Given the description of an element on the screen output the (x, y) to click on. 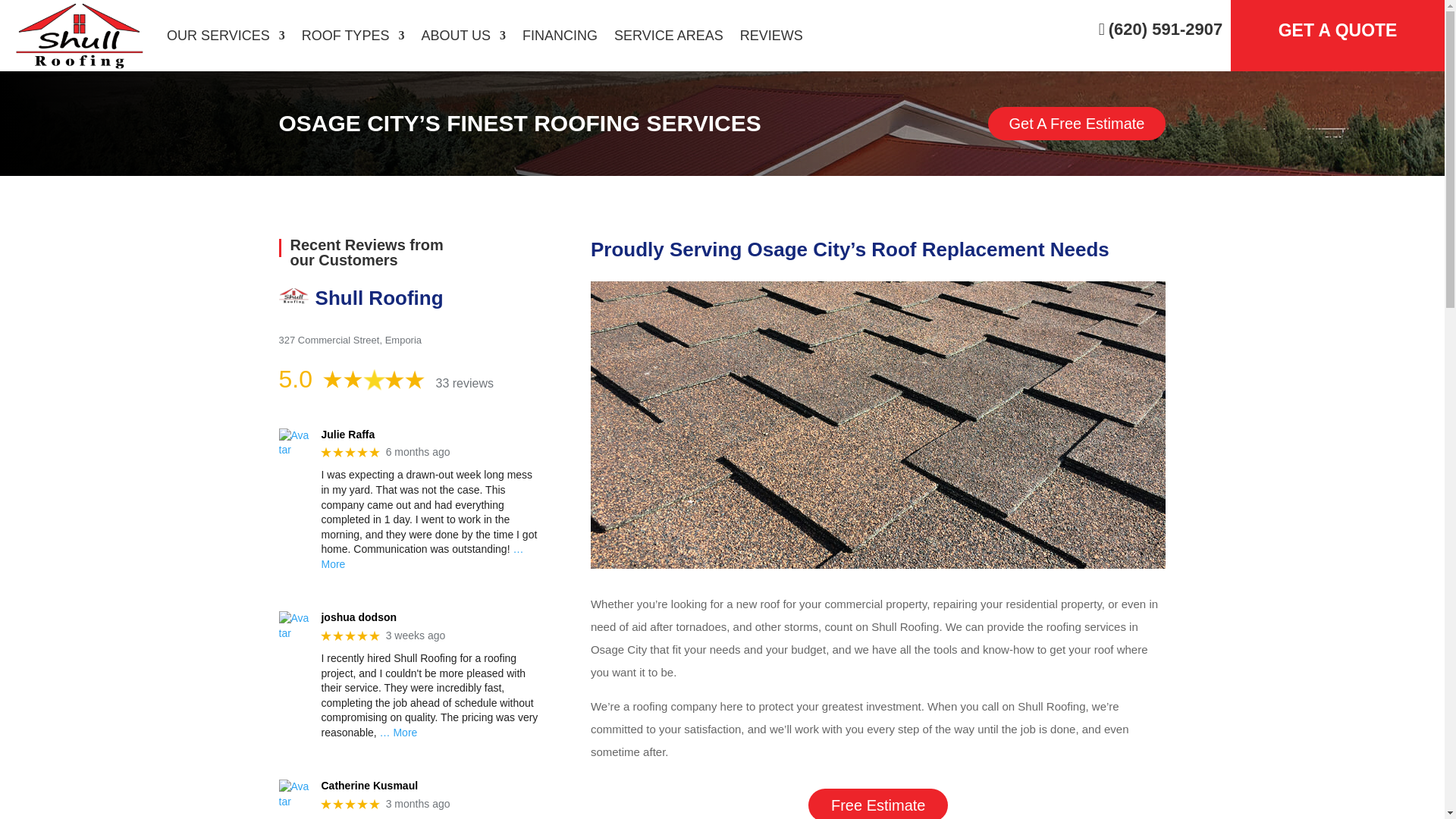
GET A QUOTE (1337, 26)
ROOF TYPES (352, 35)
FINANCING (559, 35)
SERVICE AREAS (668, 35)
ABOUT US (462, 35)
OUR SERVICES (226, 35)
